Given the description of an element on the screen output the (x, y) to click on. 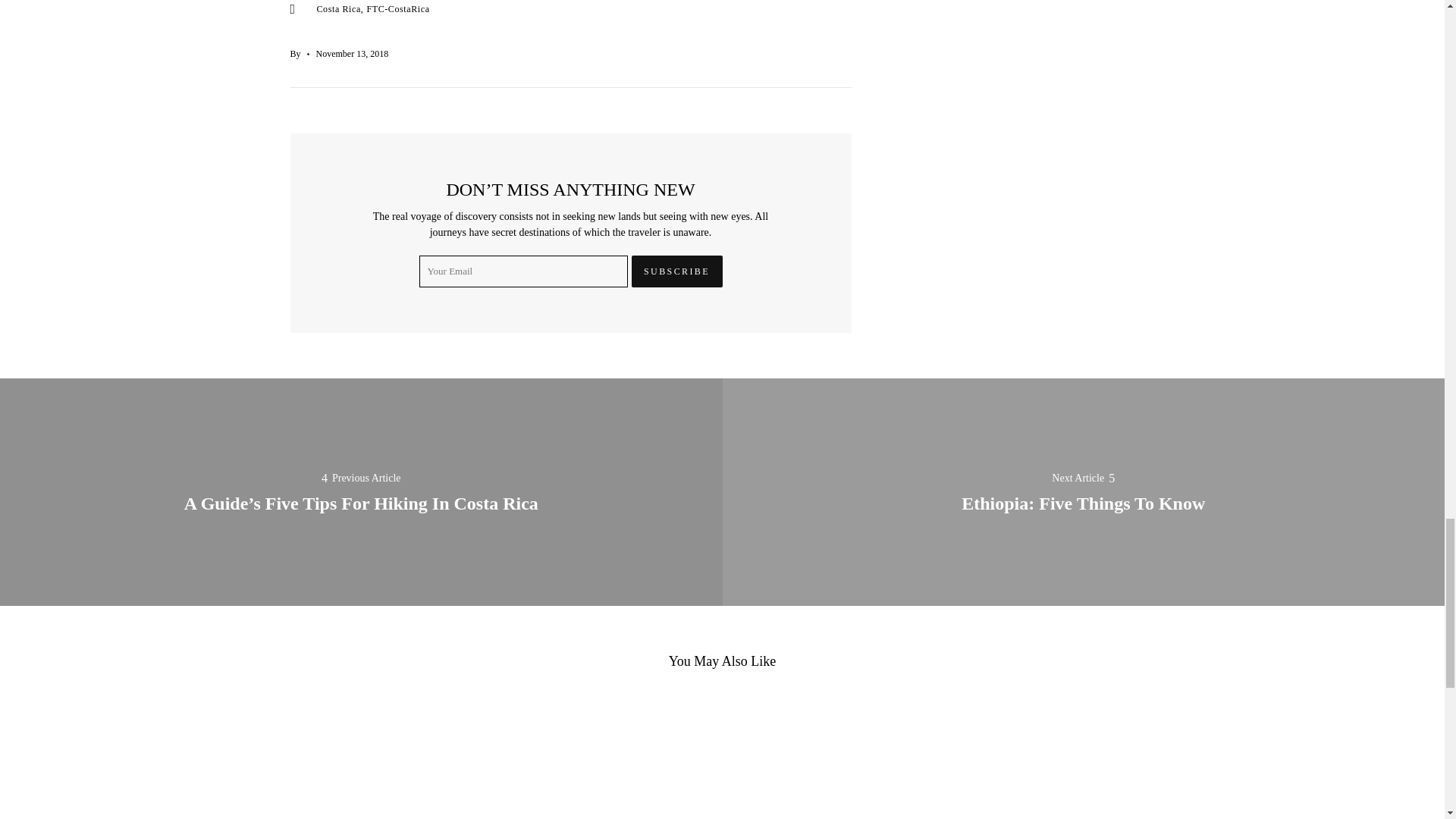
Subscribe (676, 271)
